Given the description of an element on the screen output the (x, y) to click on. 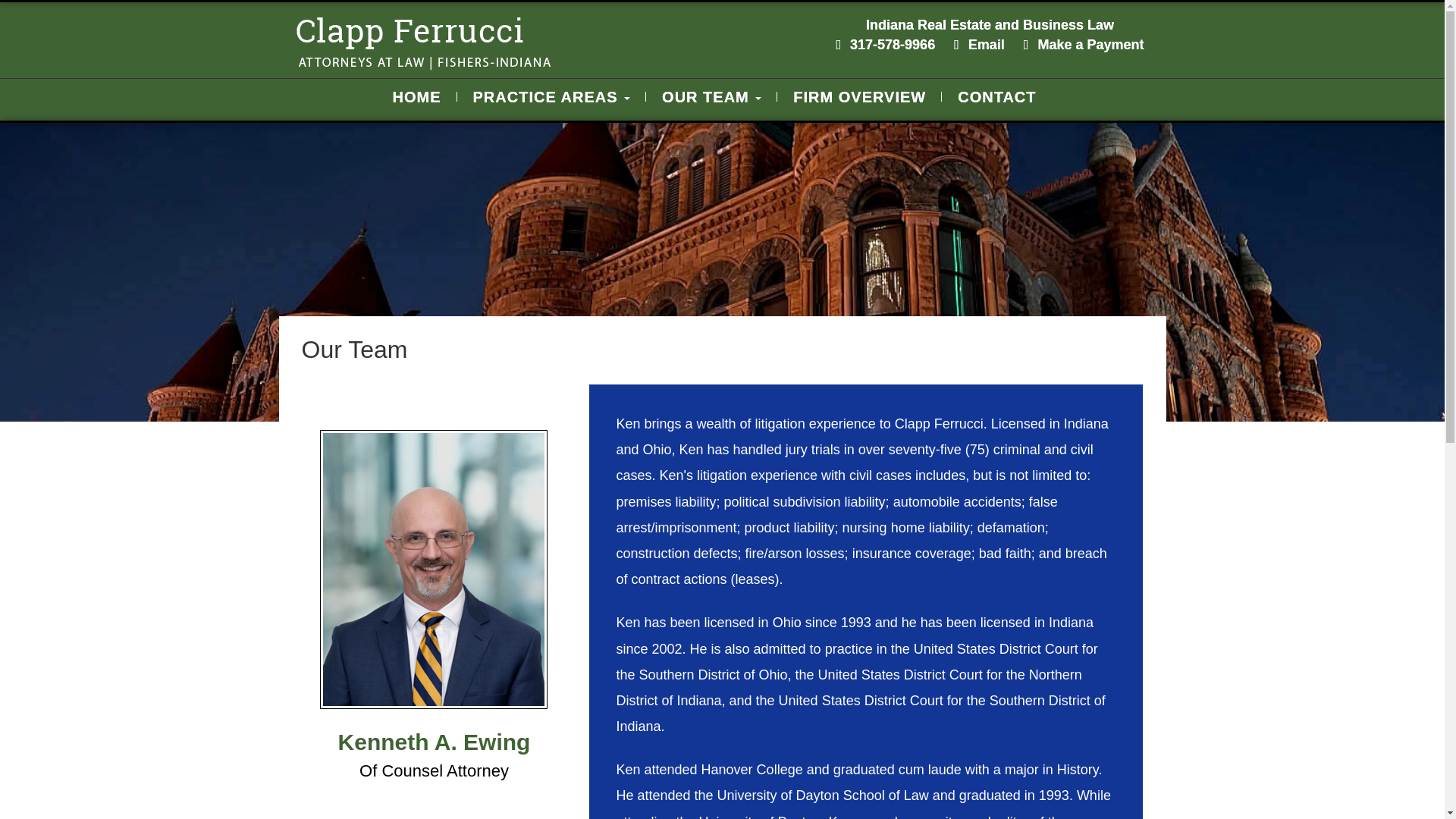
HOME (421, 96)
OUR TEAM (711, 96)
PRACTICE AREAS (551, 96)
FIRM OVERVIEW (859, 96)
Make a Payment (1089, 44)
317-578-9966 (892, 44)
Email (986, 44)
CONTACT (996, 96)
